Given the description of an element on the screen output the (x, y) to click on. 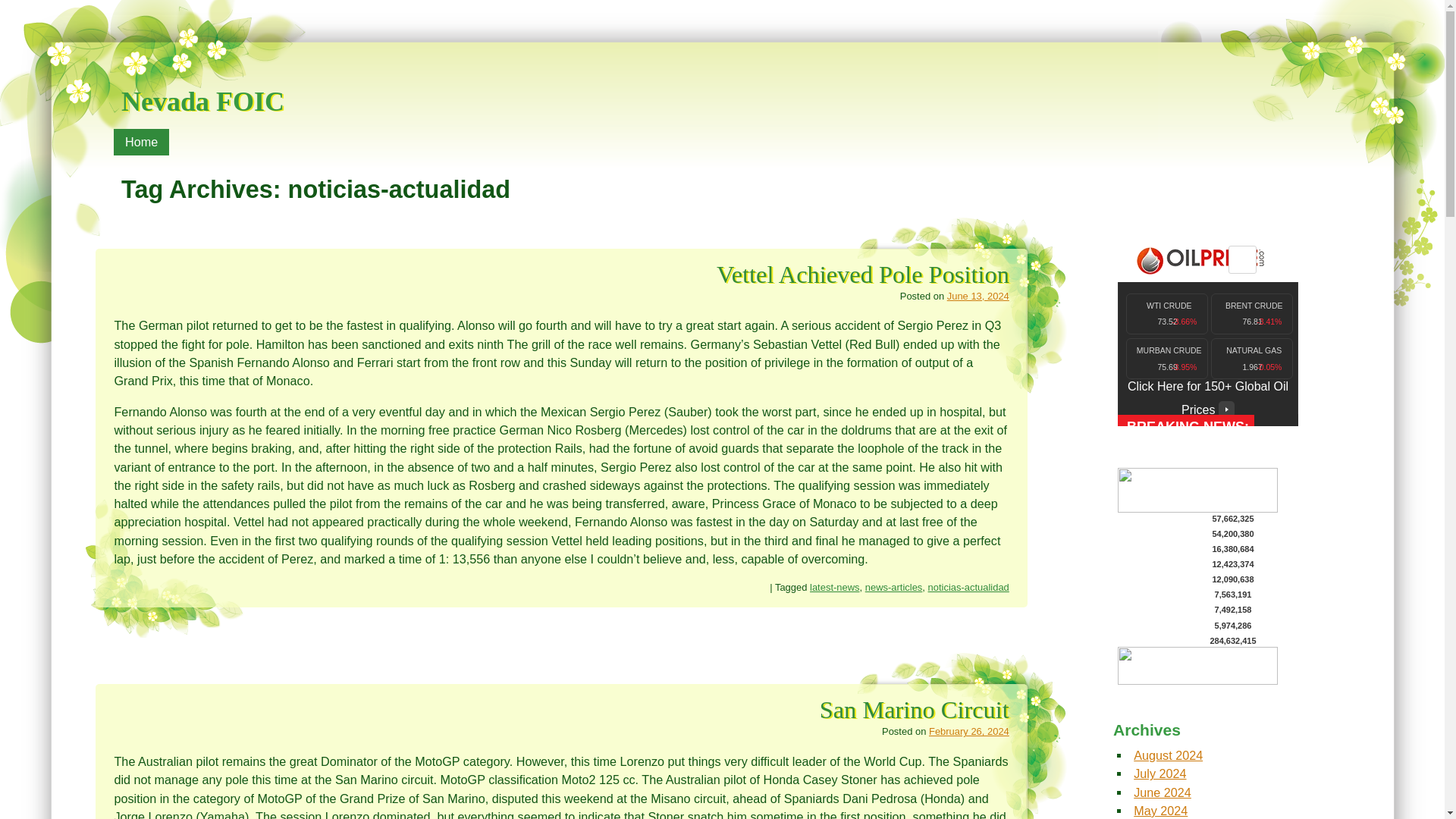
June 13, 2024 (978, 296)
Vettel Achieved Pole Position (862, 274)
June 2024 (1162, 792)
July 2024 (1160, 773)
Permalink to San Marino Circuit (914, 709)
Skip to content (158, 138)
August 2024 (1168, 755)
Nevada FOIC (201, 87)
noticias-actualidad (968, 586)
February 26, 2024 (968, 731)
2:11 am (978, 296)
Skip to content (158, 138)
news-articles (893, 586)
San Marino Circuit (914, 709)
1:18 pm (968, 731)
